Given the description of an element on the screen output the (x, y) to click on. 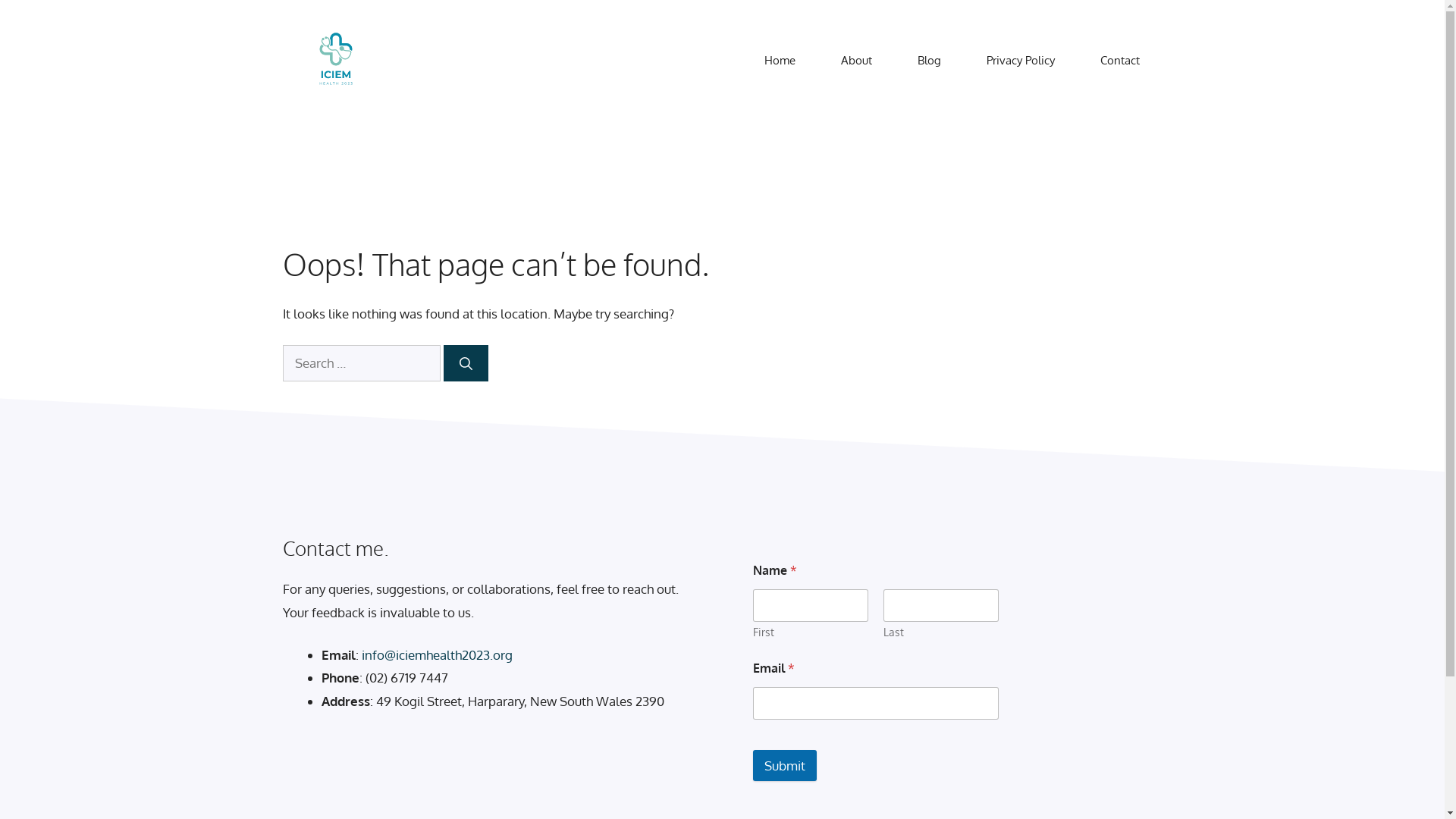
Search for: Element type: hover (360, 363)
info@iciemhealth2023.org Element type: text (435, 654)
Submit Element type: text (783, 765)
Home Element type: text (779, 60)
Blog Element type: text (928, 60)
Privacy Policy Element type: text (1019, 60)
Contact Element type: text (1118, 60)
About Element type: text (855, 60)
